Given the description of an element on the screen output the (x, y) to click on. 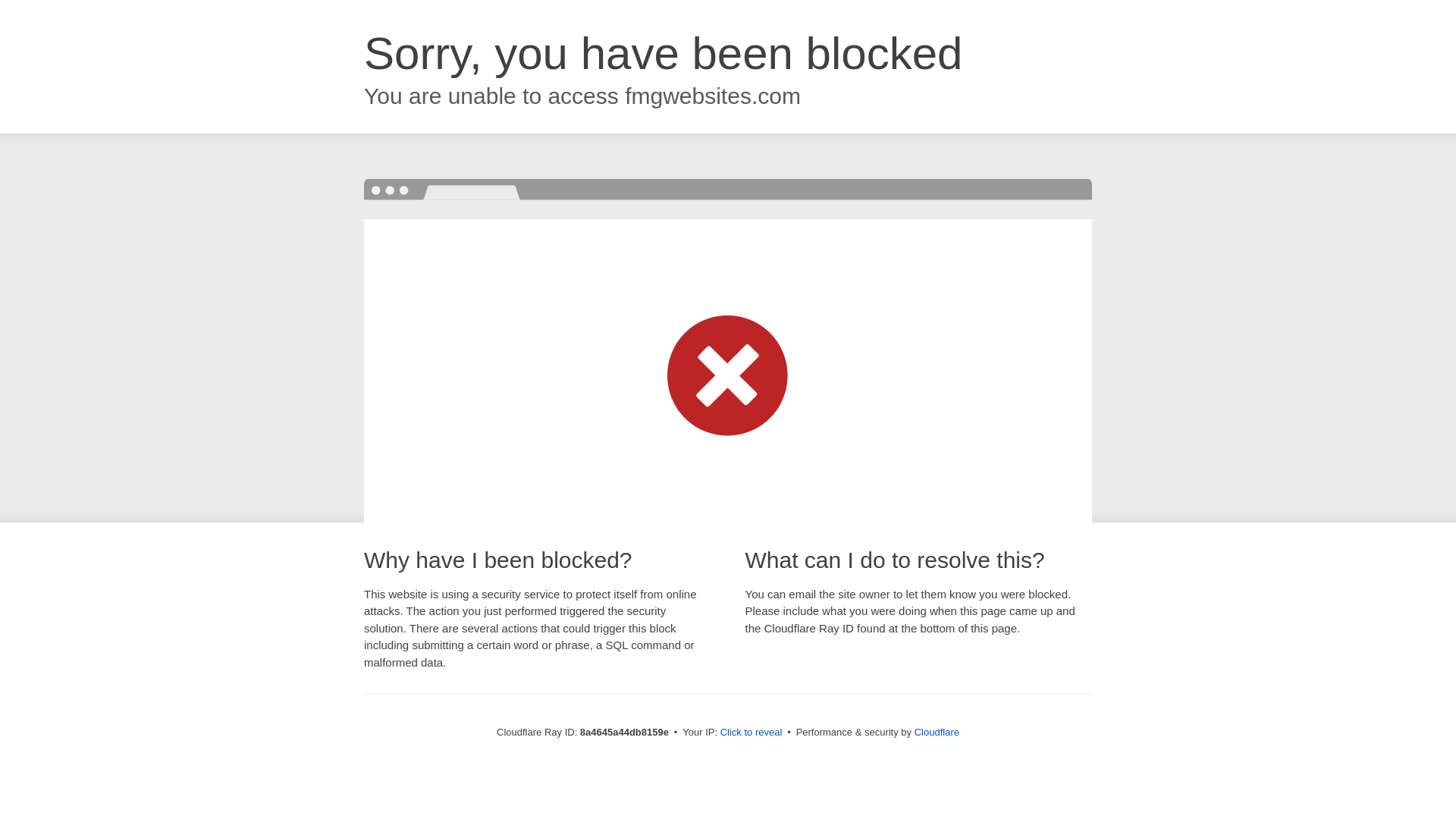
Cloudflare (936, 731)
Click to reveal (751, 732)
